Given the description of an element on the screen output the (x, y) to click on. 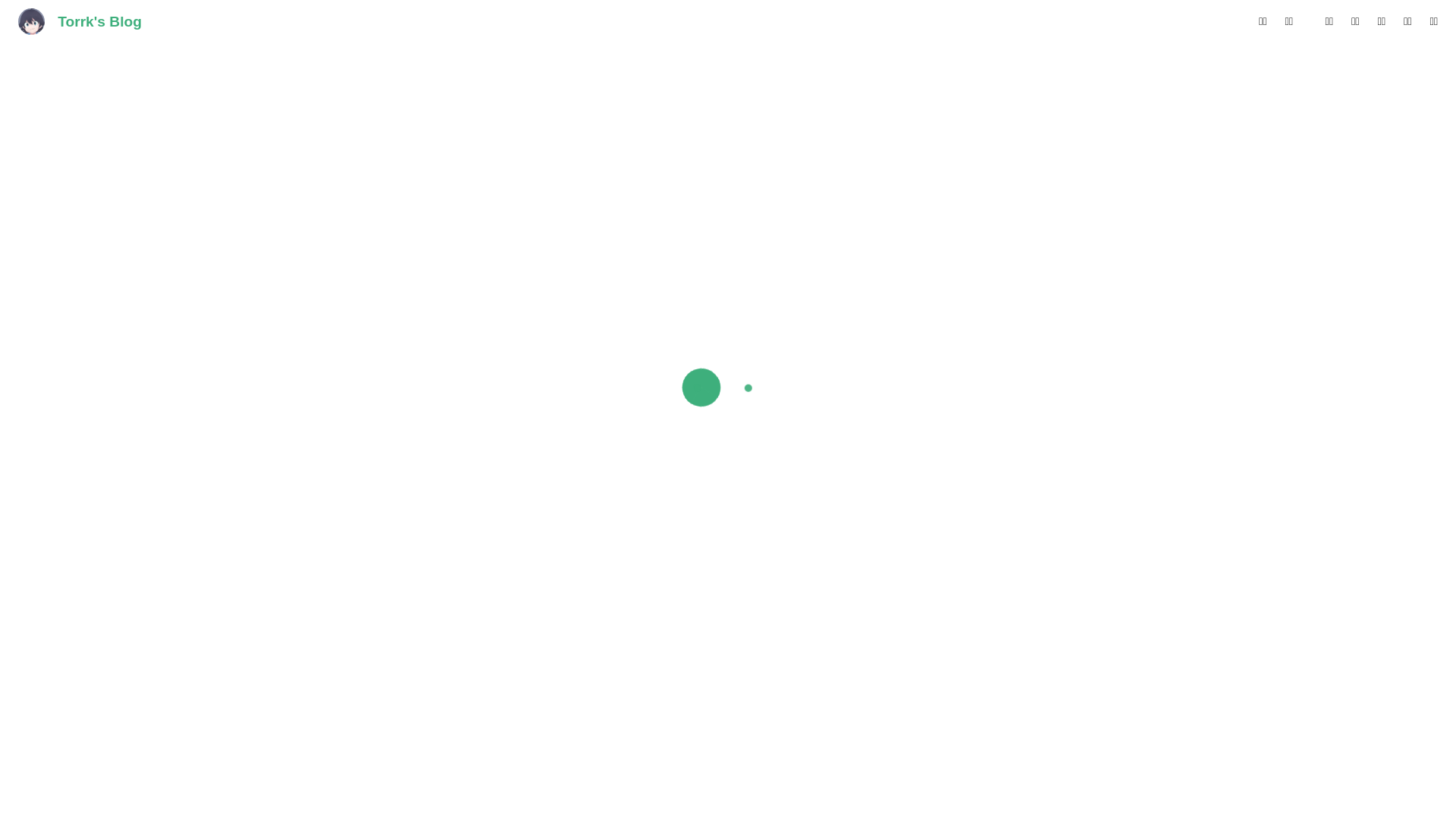
Torrk's Blog Element type: text (79, 21)
